Given the description of an element on the screen output the (x, y) to click on. 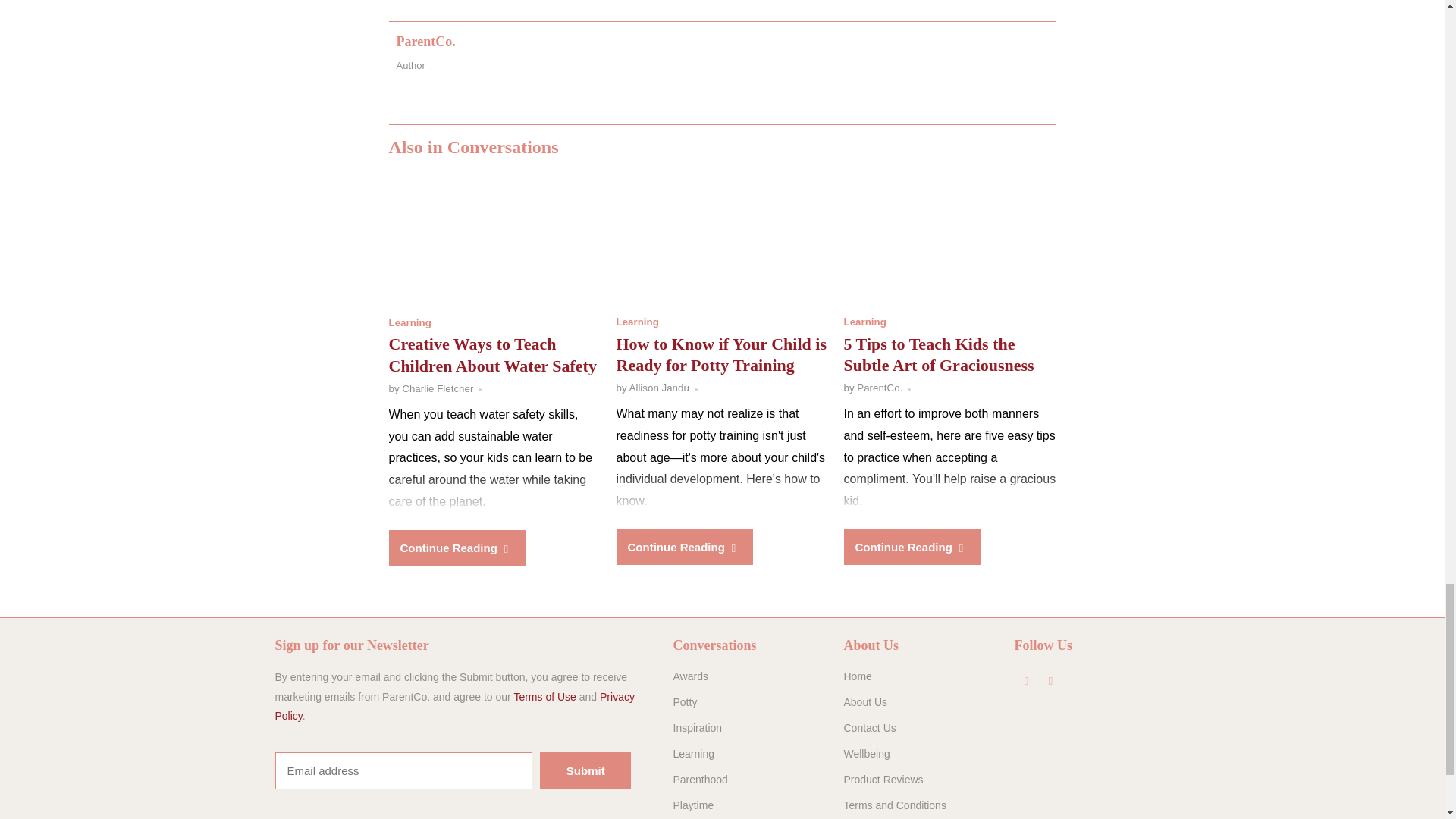
5 Tips to Teach Kids the Subtle Art of Graciousness (938, 354)
Continue Reading (456, 547)
Learning (864, 321)
Submit (585, 770)
Creative Ways to Teach Children About Water Safety (493, 241)
Conversations tagged Learning (864, 321)
5 Tips to Teach Kids the Subtle Art of Graciousness (949, 241)
Conversations tagged Learning (409, 322)
How to Know if Your Child is Ready for Potty Training (721, 354)
Learning (636, 321)
Continue Reading (683, 547)
Continue Reading (911, 547)
Learning (409, 322)
Conversations tagged Learning (636, 321)
How to Know if Your Child is Ready for Potty Training (721, 241)
